Given the description of an element on the screen output the (x, y) to click on. 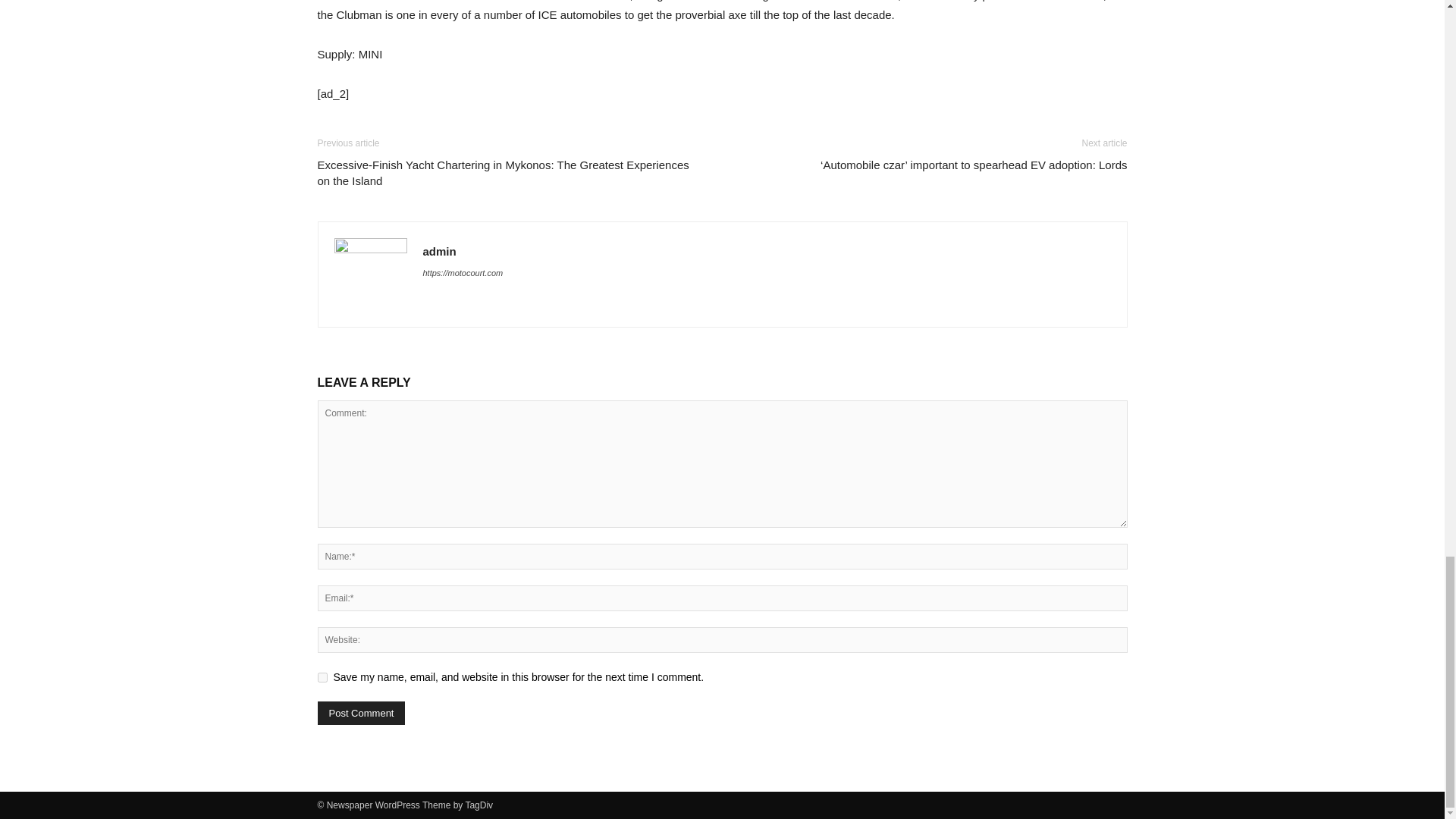
Post Comment (360, 712)
yes (321, 677)
admin (440, 250)
